Given the description of an element on the screen output the (x, y) to click on. 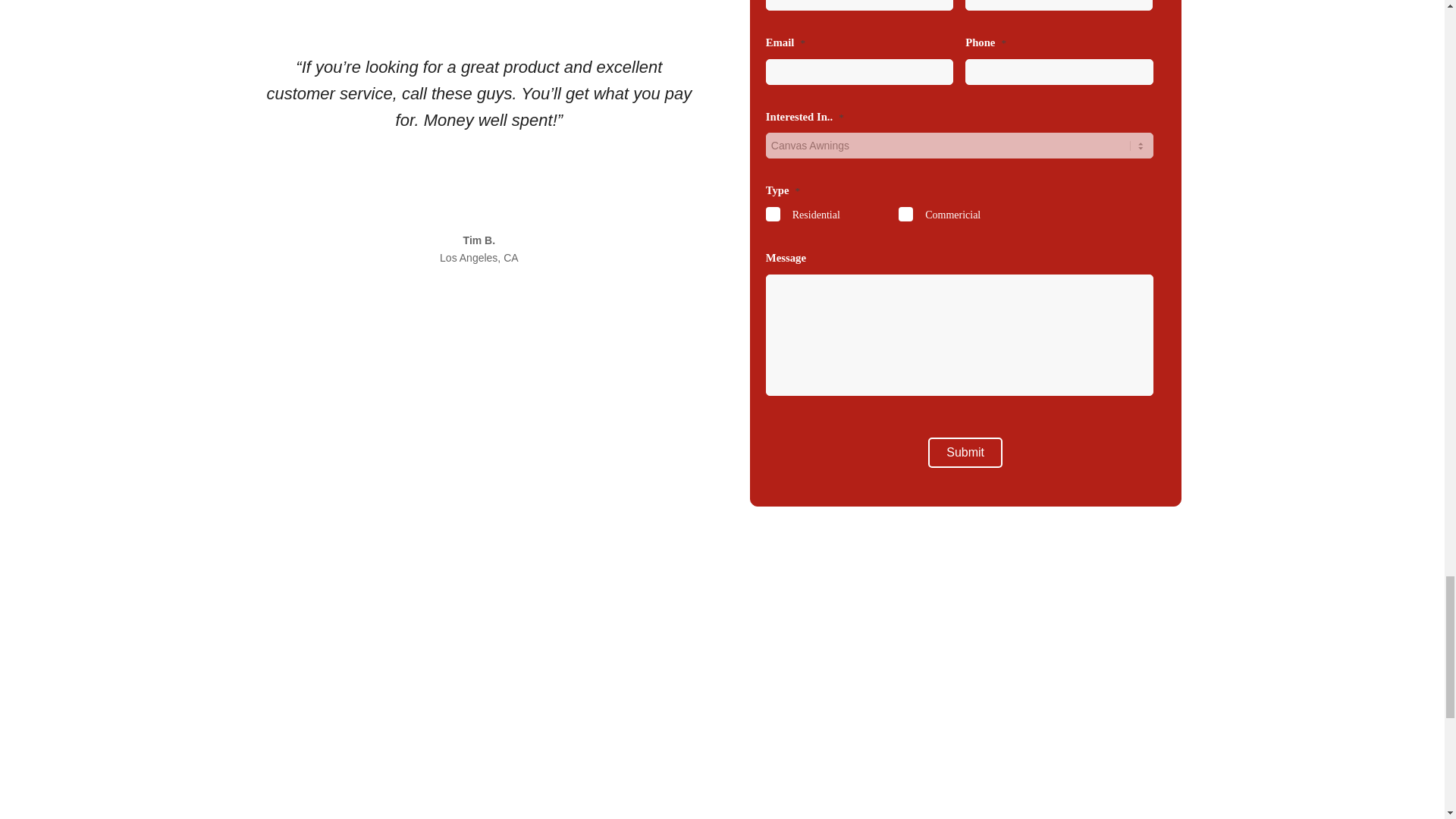
Submit (965, 452)
